Given the description of an element on the screen output the (x, y) to click on. 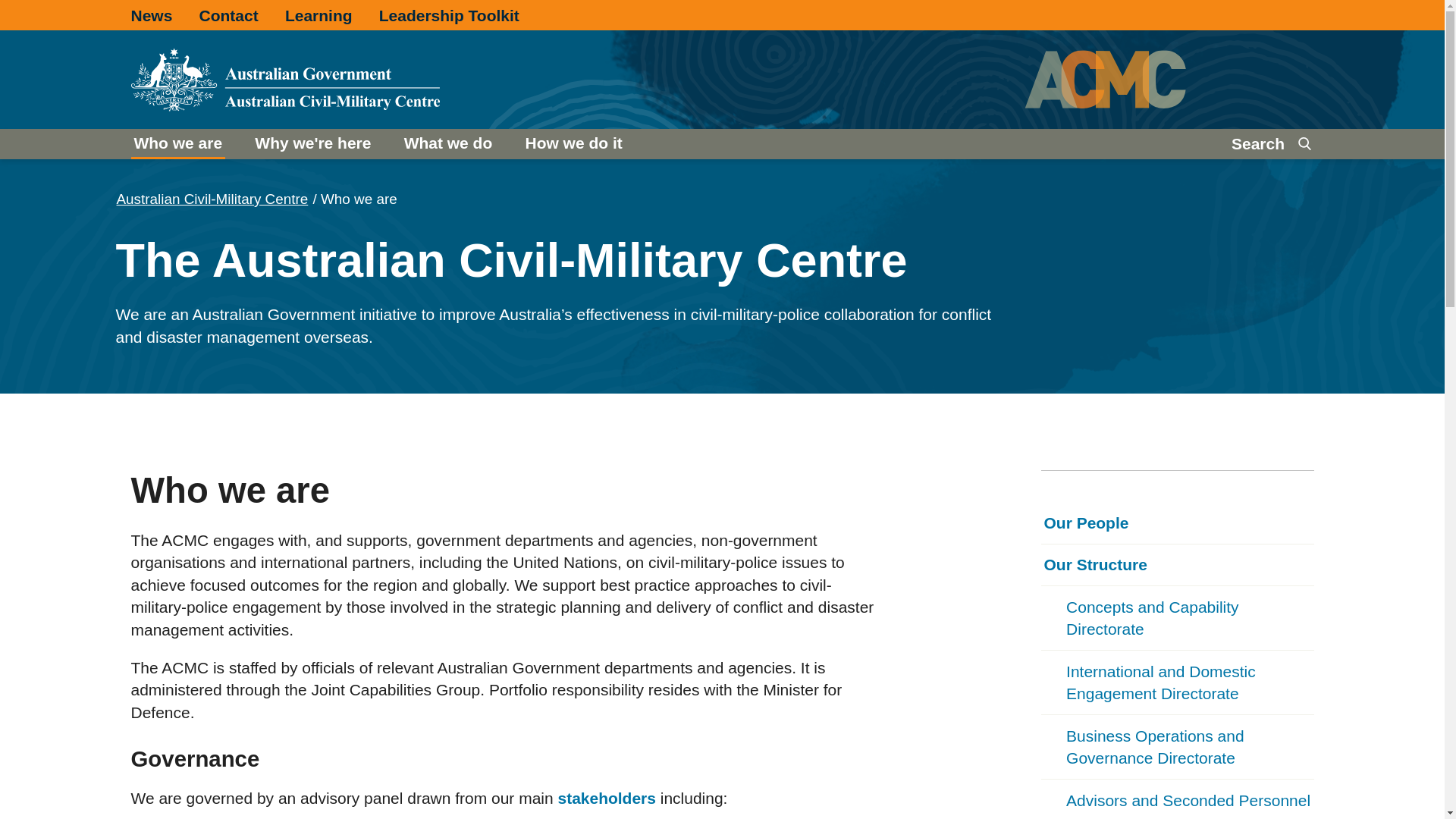
Learning (318, 15)
News (151, 15)
Why we're here (312, 143)
Contact (229, 15)
Who we are (178, 143)
Leadership Toolkit (448, 15)
